Given the description of an element on the screen output the (x, y) to click on. 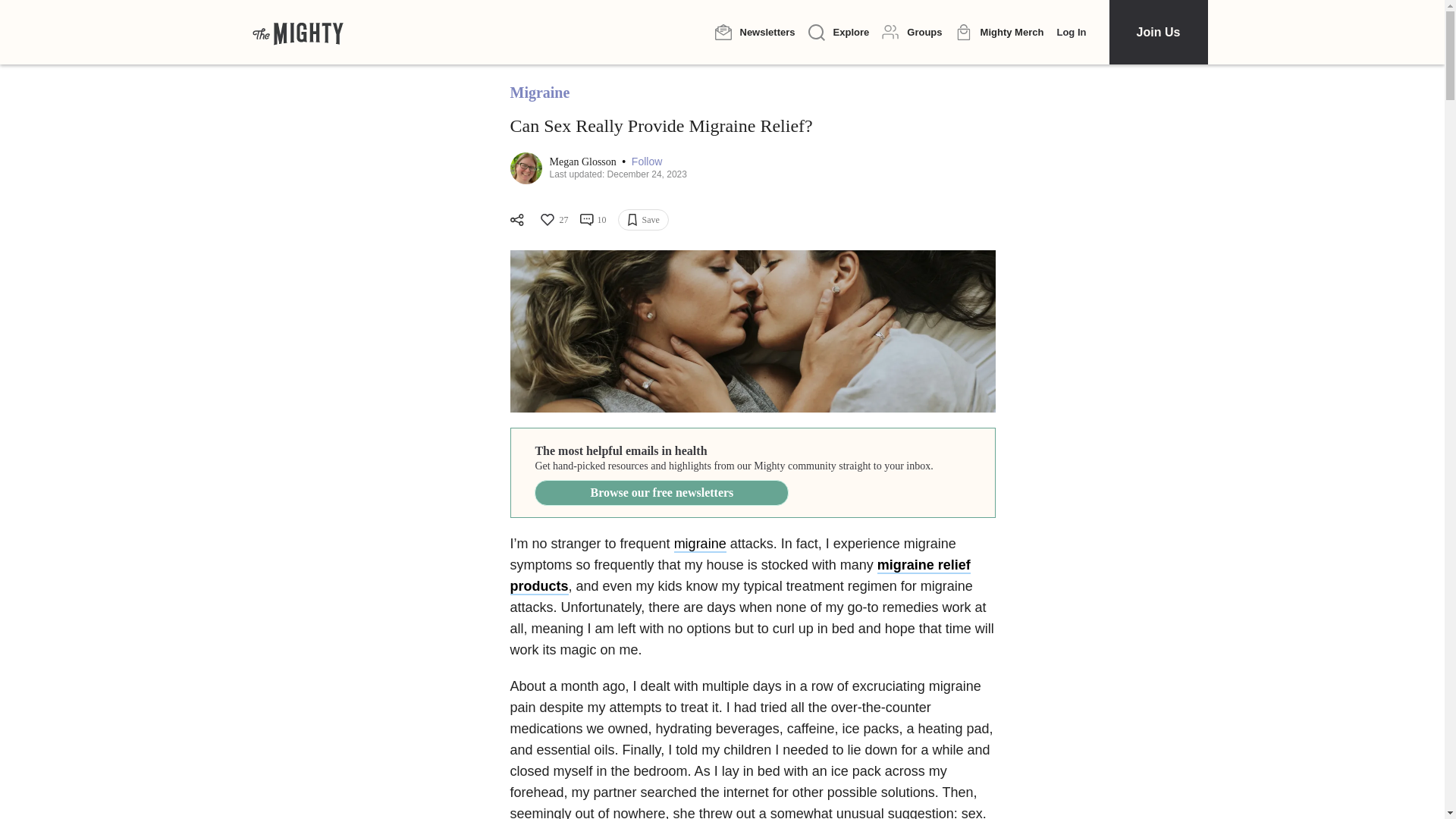
Can Sex Really Provide Migraine Relief? (751, 331)
27 (552, 219)
Megan Glosson (583, 161)
Join Us (1157, 32)
Newsletters (754, 31)
10 (592, 219)
migraine (700, 544)
The Mighty (296, 32)
Mighty Merch (999, 32)
Explore (838, 32)
Follow (646, 161)
migraine relief products (739, 576)
Migraine (539, 92)
Browse our free newsletters (661, 492)
Groups (912, 32)
